Given the description of an element on the screen output the (x, y) to click on. 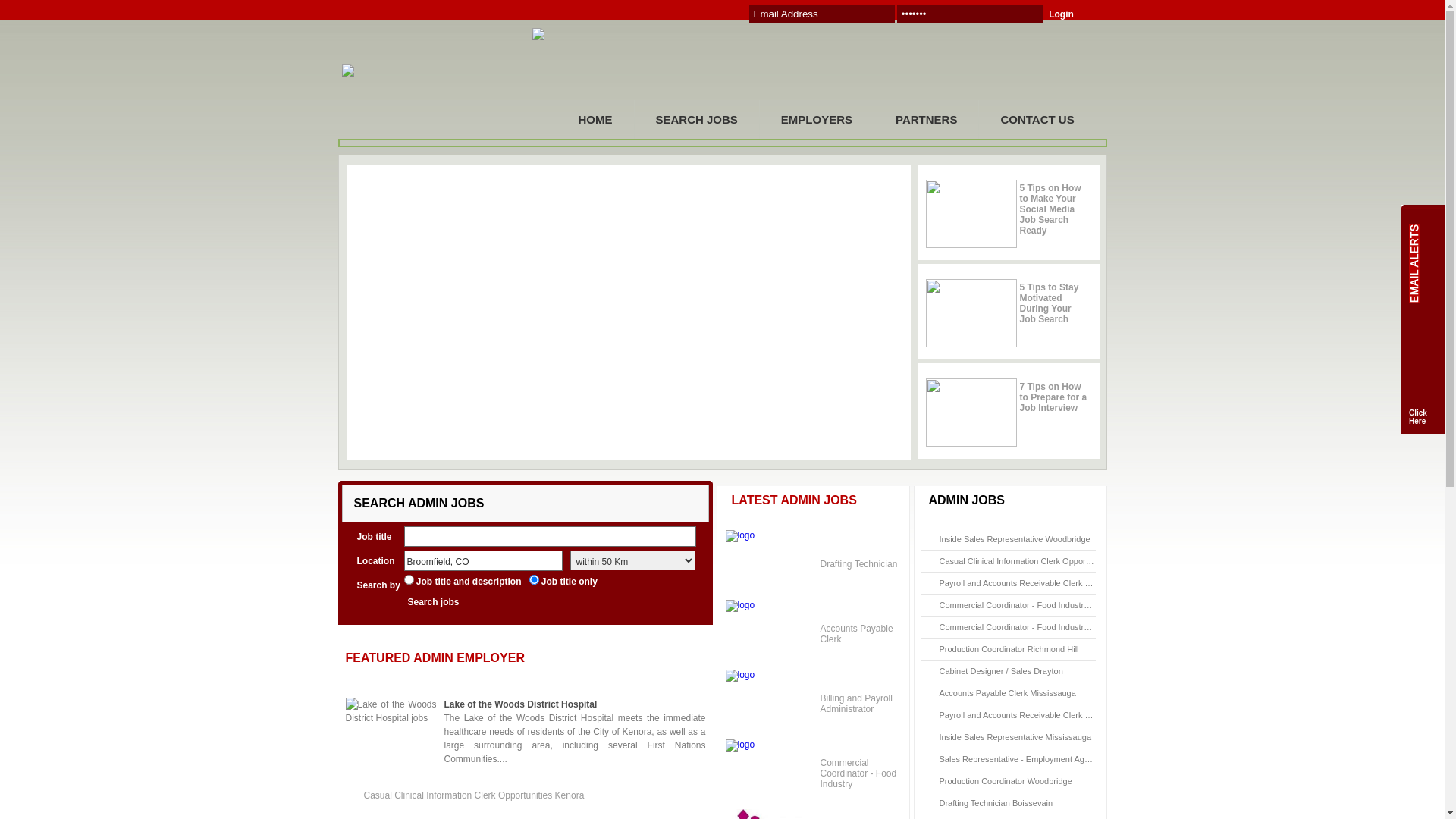
Payroll and Accounts Receivable Clerk Edmonton Element type: text (1030, 582)
Inside Sales Representative Mississauga Element type: text (1014, 736)
Login Element type: text (1071, 14)
Accounts Payable Clerk Element type: text (856, 633)
PARTNERS Element type: text (926, 119)
7 Tips on How to Prepare for a Job Interview Element type: text (1052, 397)
5 Tips on How to Make Your Social Media Job Search Ready Element type: text (1049, 208)
Billing and Payroll Administrator Element type: text (856, 703)
Production Coordinator Richmond Hill Element type: text (1008, 648)
Commercial Coordinator - Food Industry Brampton Element type: text (1032, 626)
SEARCH JOBS Element type: text (695, 119)
Commercial Coordinator - Food Industry Element type: text (858, 773)
Drafting Technician Element type: text (858, 563)
HOME Element type: text (594, 119)
Inside Sales Representative Woodbridge Element type: text (1013, 538)
Lake of the Woods District Hospital jobs Element type: hover (390, 731)
Casual Clinical Information Clerk Opportunities Kenora Element type: text (474, 795)
JD Electric Services jobs Element type: hover (769, 703)
Search jobs Element type: text (445, 601)
Drafting Technician Boissevain Element type: text (995, 802)
Payroll and Accounts Receivable Clerk Spruce Grove Element type: text (1036, 714)
Cabinet Designer / Sales Drayton Element type: text (1000, 670)
CONTACT US Element type: text (1037, 119)
EMPLOYERS Element type: text (816, 119)
Commercial Coordinator - Food Industry Etobicoke Element type: text (1032, 604)
Sales Representative - Employment Agency Toronto Element type: text (1034, 758)
WA Enterprises Ltd. jobs Element type: hover (769, 564)
Production Coordinator Woodbridge Element type: text (1004, 780)
5 Tips to Stay Motivated During Your Job Search Element type: text (1048, 303)
Elite Personnel jobs Element type: hover (769, 773)
Infra Pipe Solutions Ltd jobs Element type: hover (769, 633)
Casual Clinical Information Clerk Opportunities Kenora Element type: text (1039, 560)
Accounts Payable Clerk Mississauga Element type: text (1006, 692)
